Given the description of an element on the screen output the (x, y) to click on. 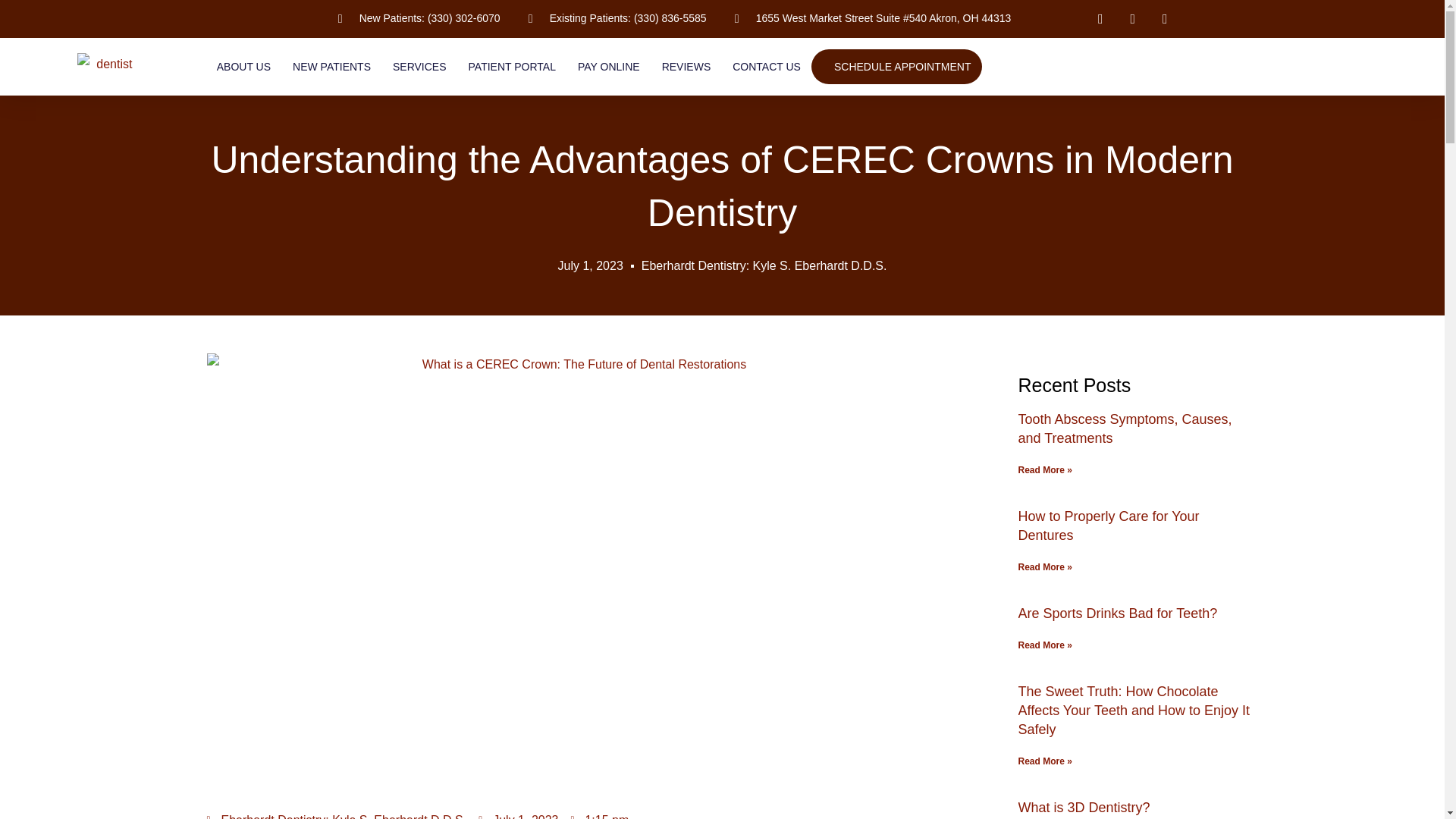
NEW PATIENTS (331, 66)
ABOUT US (243, 66)
SERVICES (419, 66)
